Given the description of an element on the screen output the (x, y) to click on. 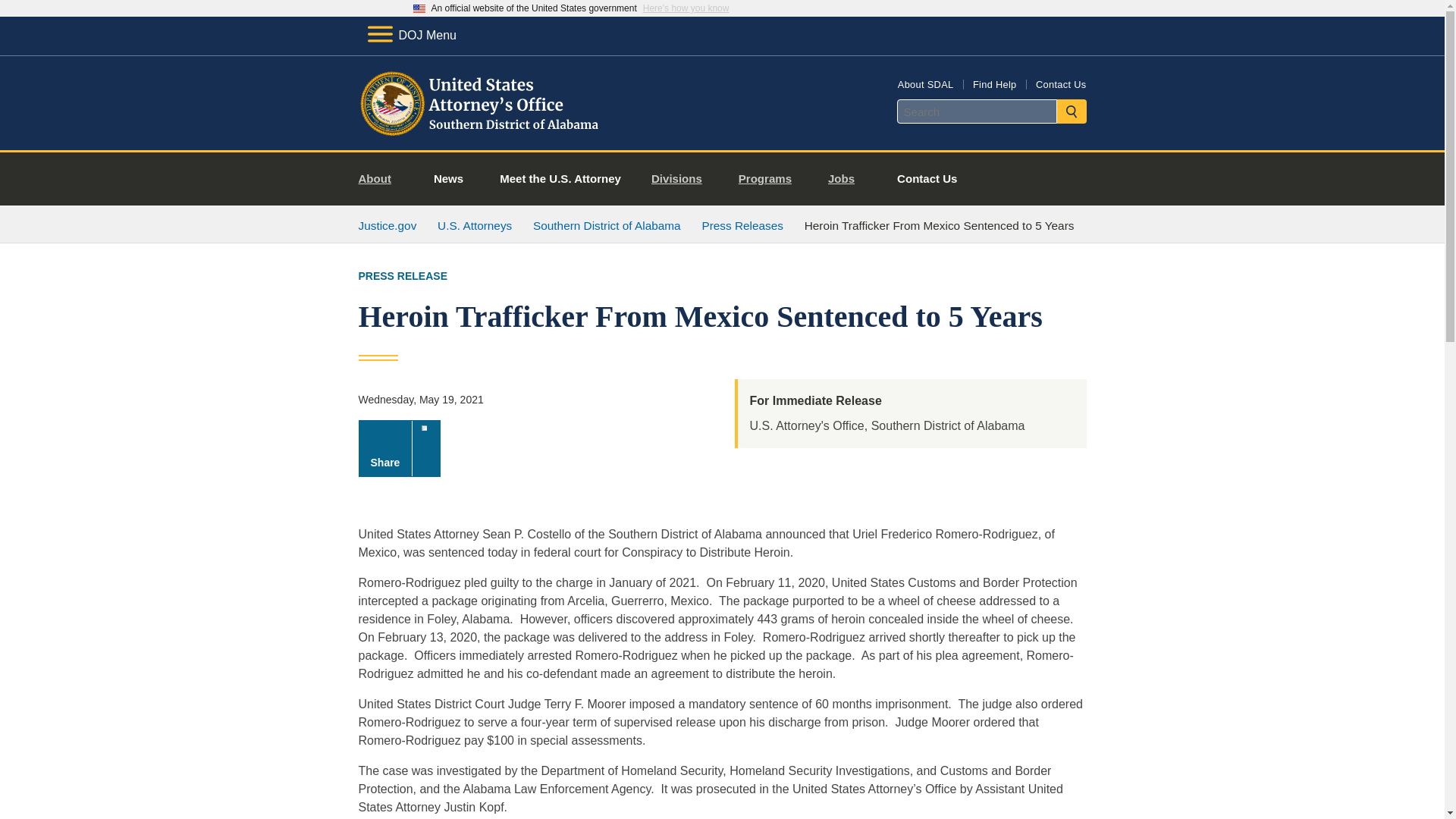
Southern District of Alabama (606, 225)
Programs (770, 179)
Home (481, 132)
Press Releases (742, 225)
Here's how you know (686, 8)
U.S. Attorneys (475, 225)
News (447, 179)
Contact Us (1060, 84)
DOJ Menu (411, 35)
About SDAL (925, 84)
Justice.gov (387, 225)
Meet the U.S. Attorney (560, 179)
Share (398, 448)
Divisions (682, 179)
About (380, 179)
